Given the description of an element on the screen output the (x, y) to click on. 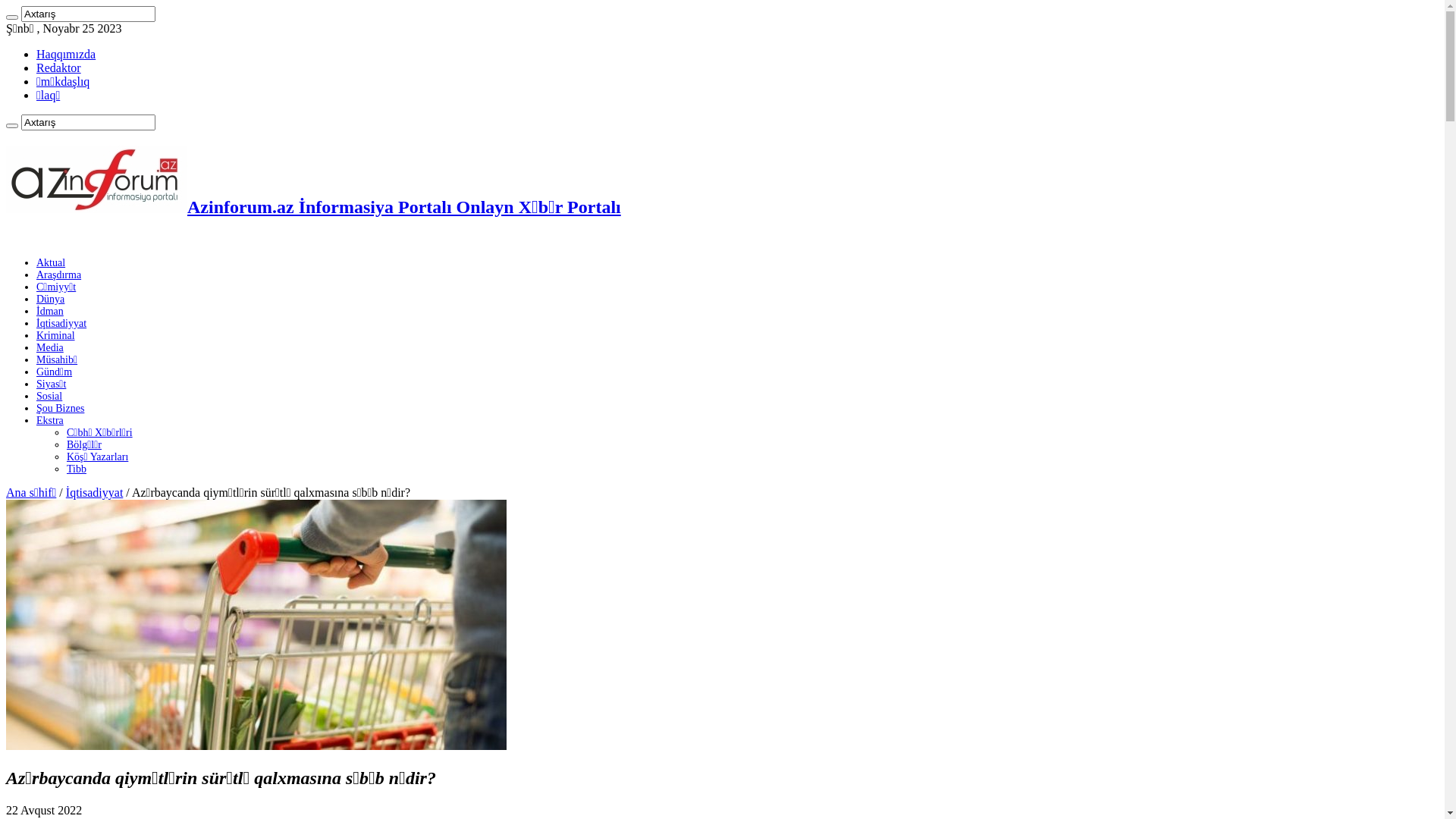
Redaktor Element type: text (58, 67)
Aktual Element type: text (50, 262)
Ekstra Element type: text (49, 420)
Sosial Element type: text (49, 395)
Tibb Element type: text (76, 468)
Media Element type: text (49, 347)
Kriminal Element type: text (55, 335)
